Given the description of an element on the screen output the (x, y) to click on. 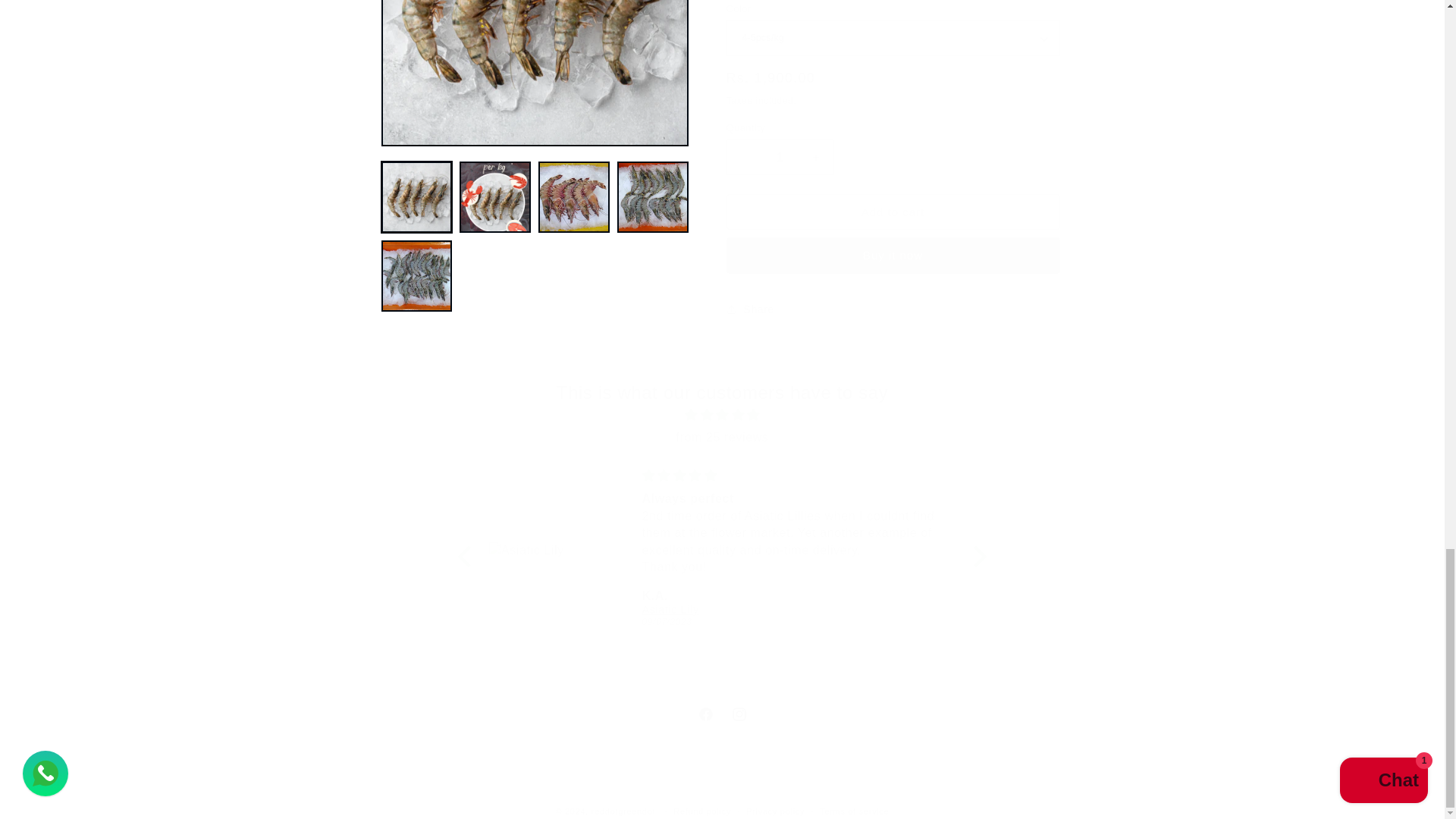
1 (780, 145)
